Given the description of an element on the screen output the (x, y) to click on. 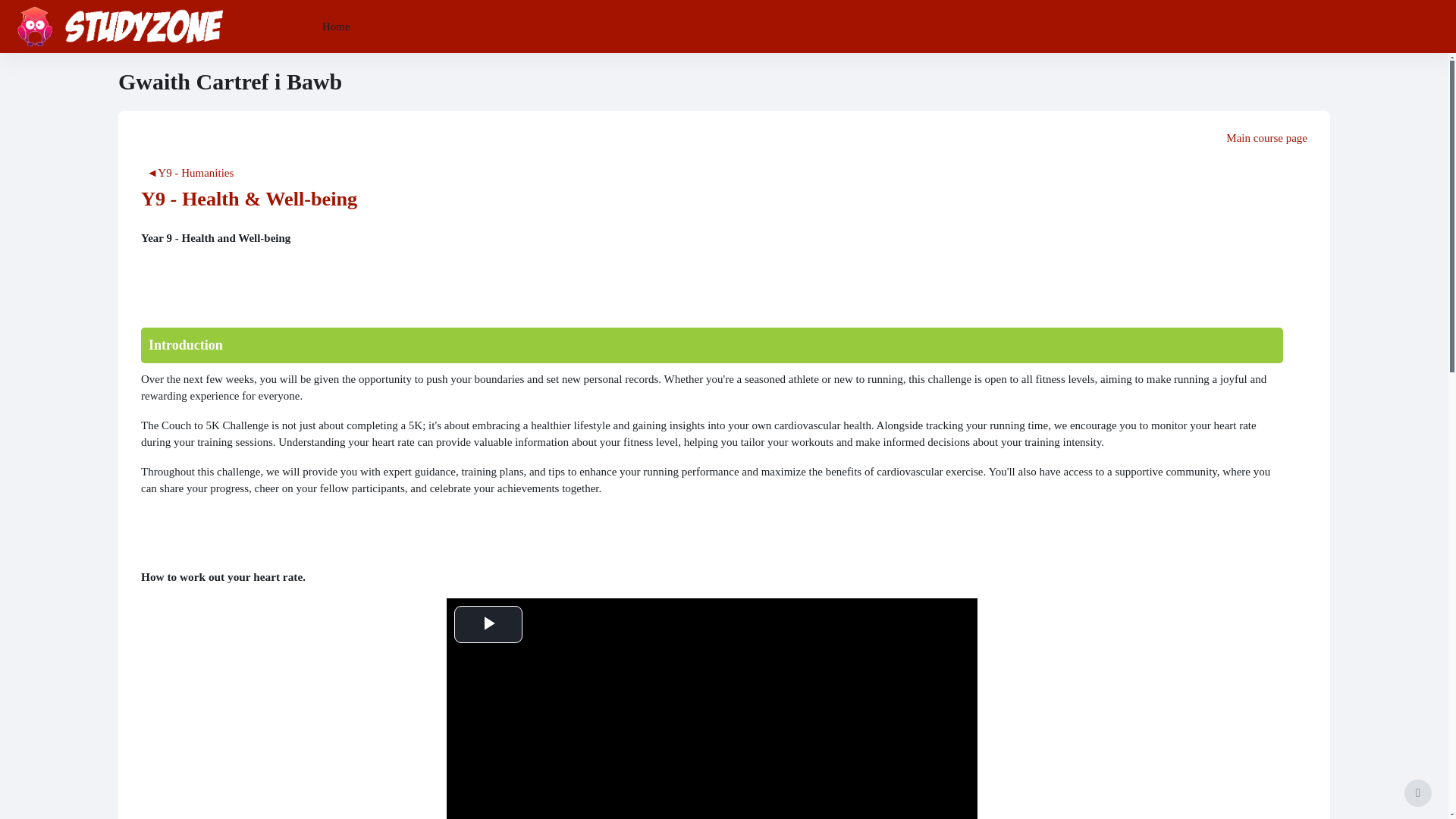
Play Video (488, 624)
Main course page (724, 138)
Play Video (488, 624)
